Given the description of an element on the screen output the (x, y) to click on. 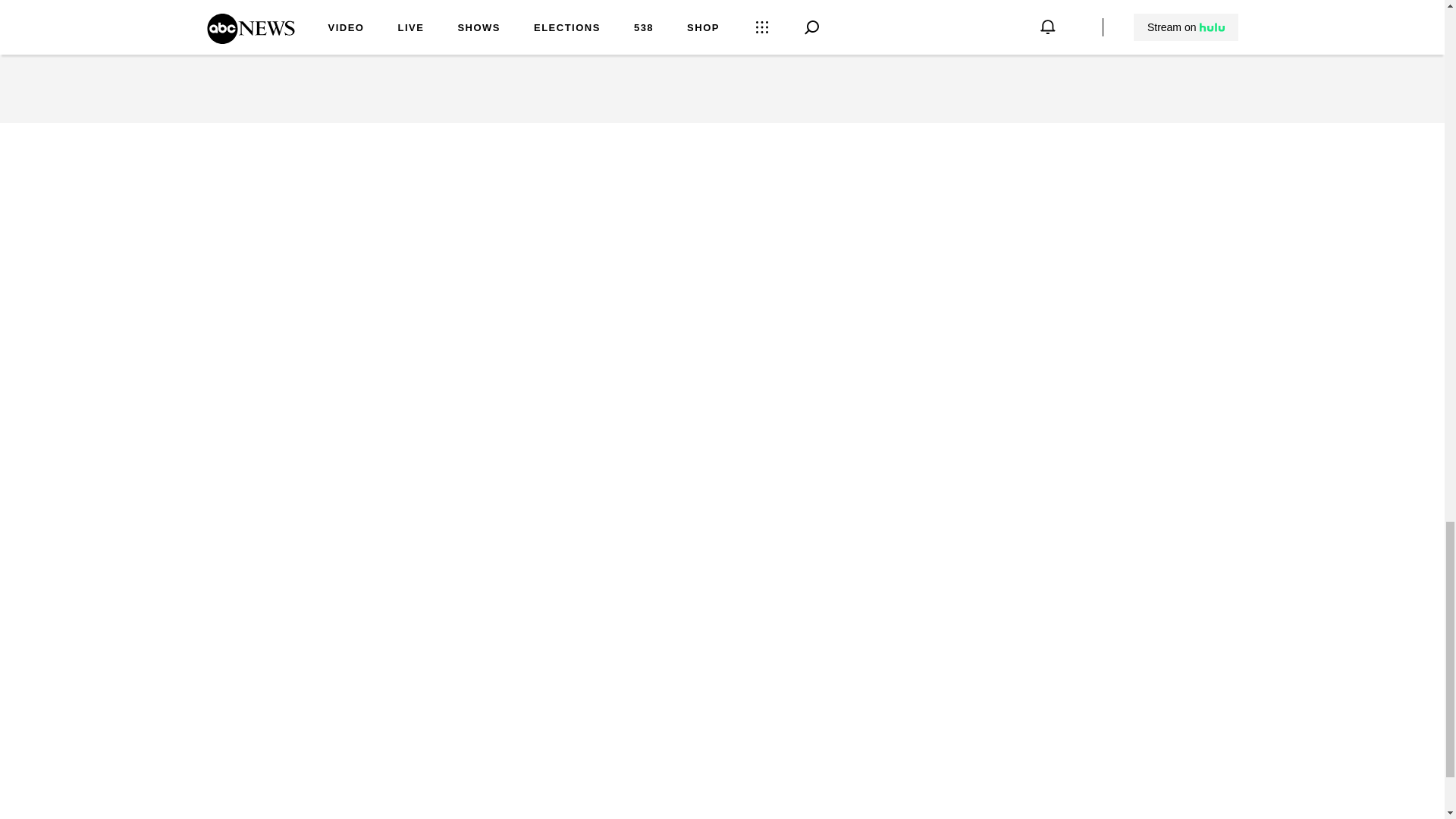
Ferguson (320, 13)
